Given the description of an element on the screen output the (x, y) to click on. 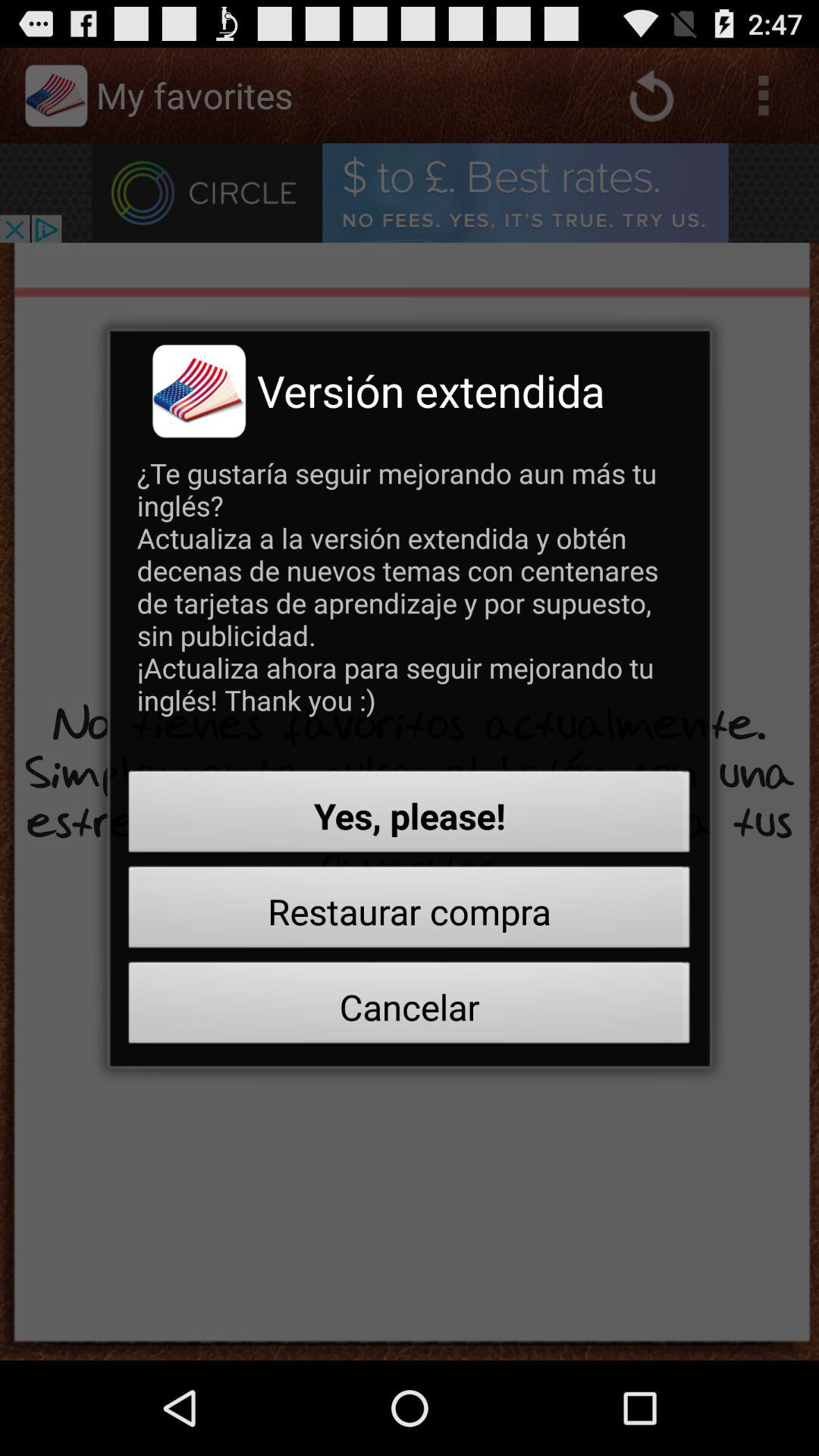
scroll until restaurar compra button (409, 911)
